Given the description of an element on the screen output the (x, y) to click on. 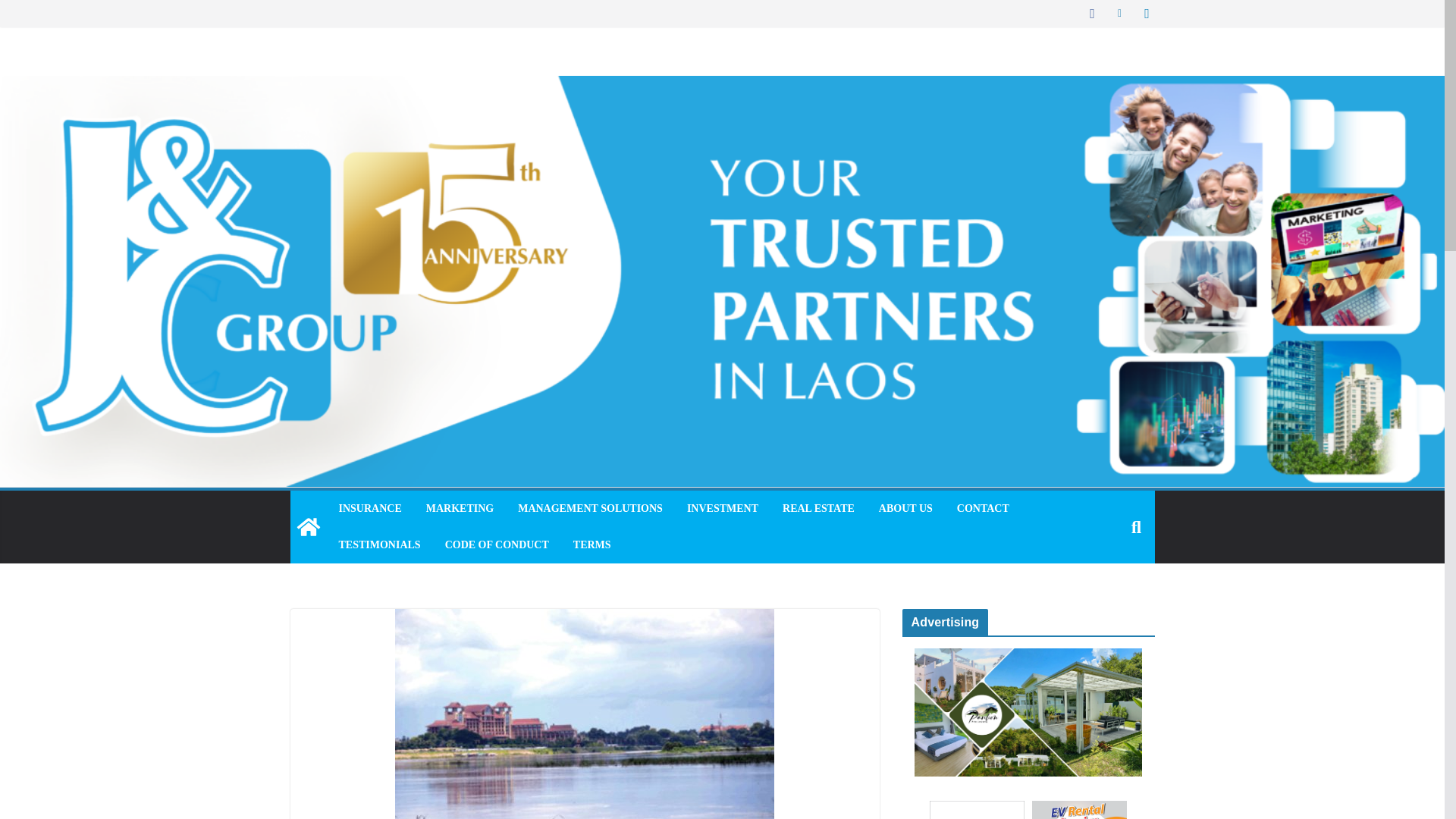
ABOUT US (906, 508)
INSURANCE (369, 508)
TERMS (592, 545)
INVESTMENT (722, 508)
REAL ESTATE (818, 508)
MARKETING (459, 508)
CONTACT (982, 508)
TESTIMONIALS (378, 545)
CODE OF CONDUCT (496, 545)
MANAGEMENT SOLUTIONS (590, 508)
